Given the description of an element on the screen output the (x, y) to click on. 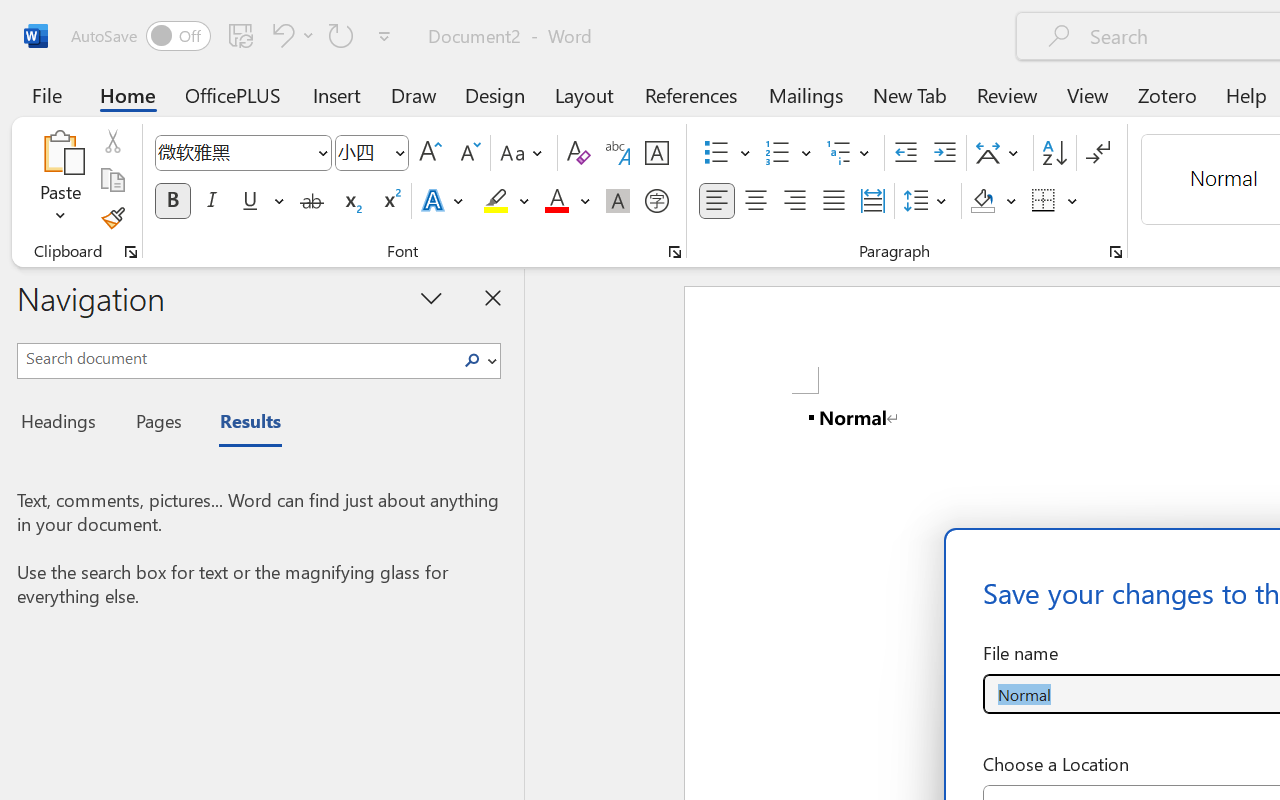
Customize Quick Access Toolbar (384, 35)
Phonetic Guide... (618, 153)
New Tab (909, 94)
Font Color Red (556, 201)
Review (1007, 94)
Layout (584, 94)
Underline (250, 201)
Grow Font (430, 153)
Font Size (372, 153)
Shading RGB(0, 0, 0) (982, 201)
Bullets (727, 153)
Multilevel List (850, 153)
Enclose Characters... (656, 201)
Justify (834, 201)
